Given the description of an element on the screen output the (x, y) to click on. 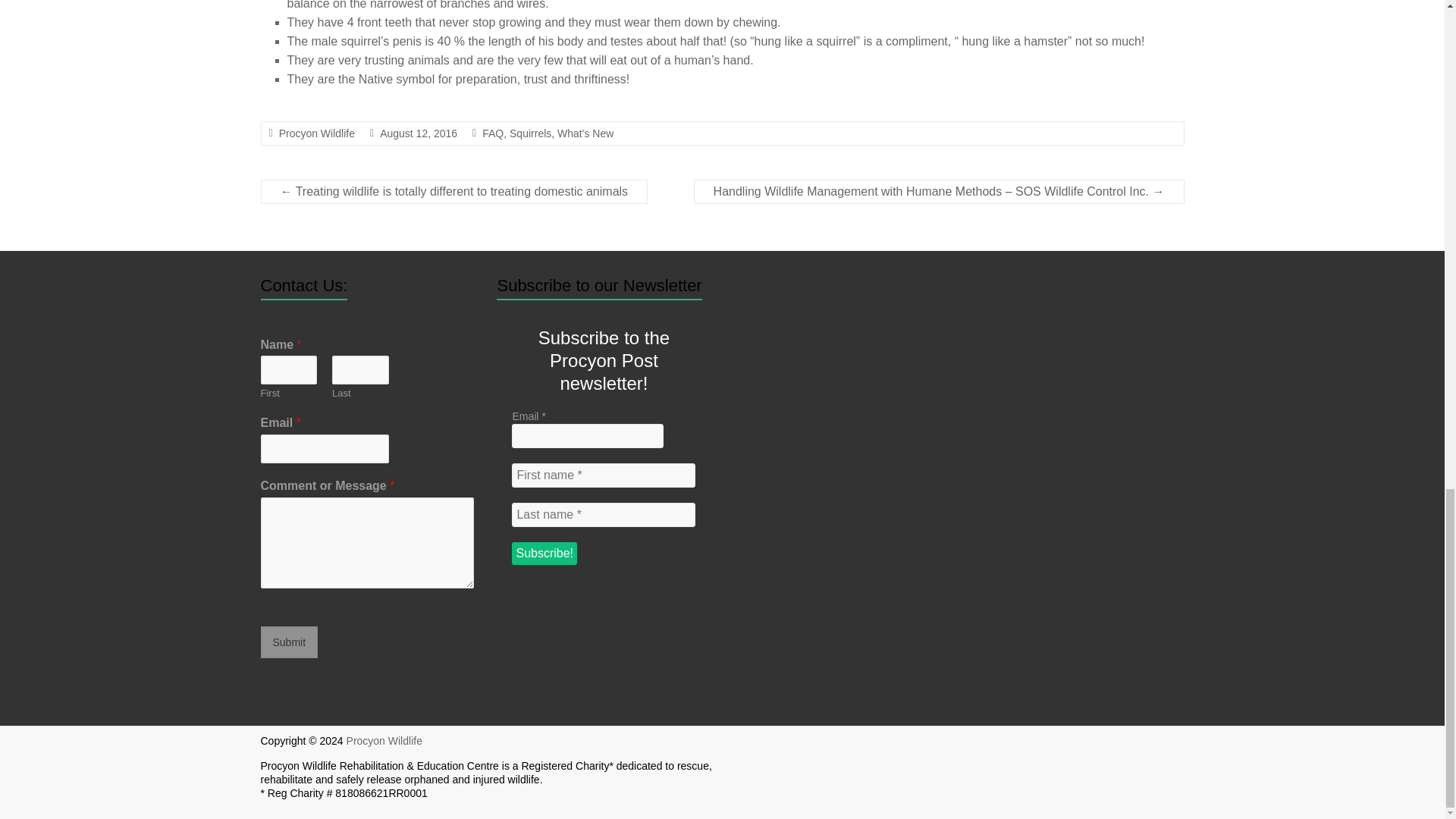
Email (587, 435)
Procyon Wildlife (384, 740)
4:39 pm (418, 133)
Subscribe! (544, 553)
First name (603, 475)
Last name (603, 514)
